Given the description of an element on the screen output the (x, y) to click on. 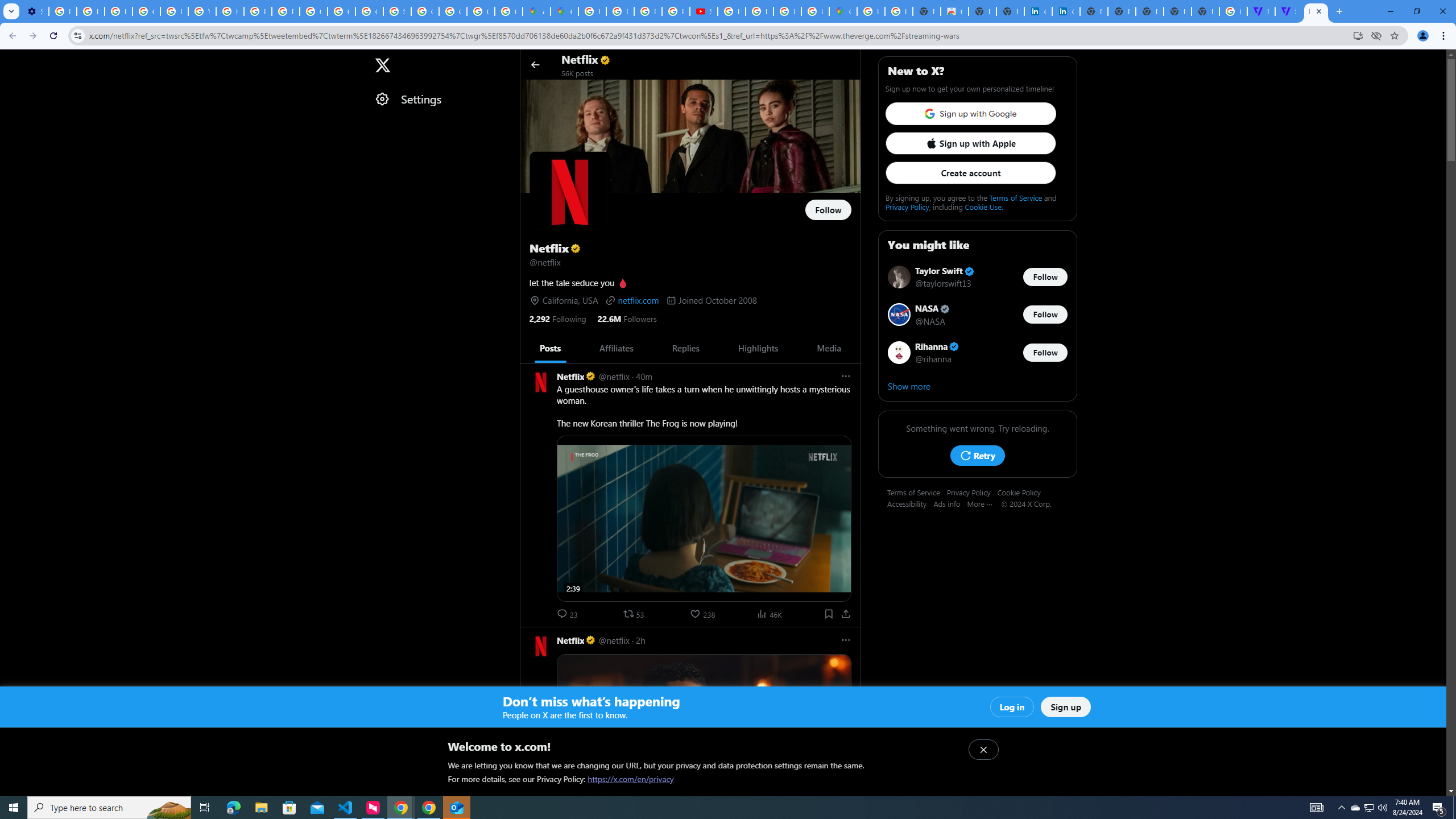
Follow @netflix (828, 209)
@netflix (613, 639)
Netflix Verified account (576, 639)
Replies (685, 347)
Square profile picture (540, 645)
Privacy Help Center - Policies Help (174, 11)
Install X (1358, 35)
